Given the description of an element on the screen output the (x, y) to click on. 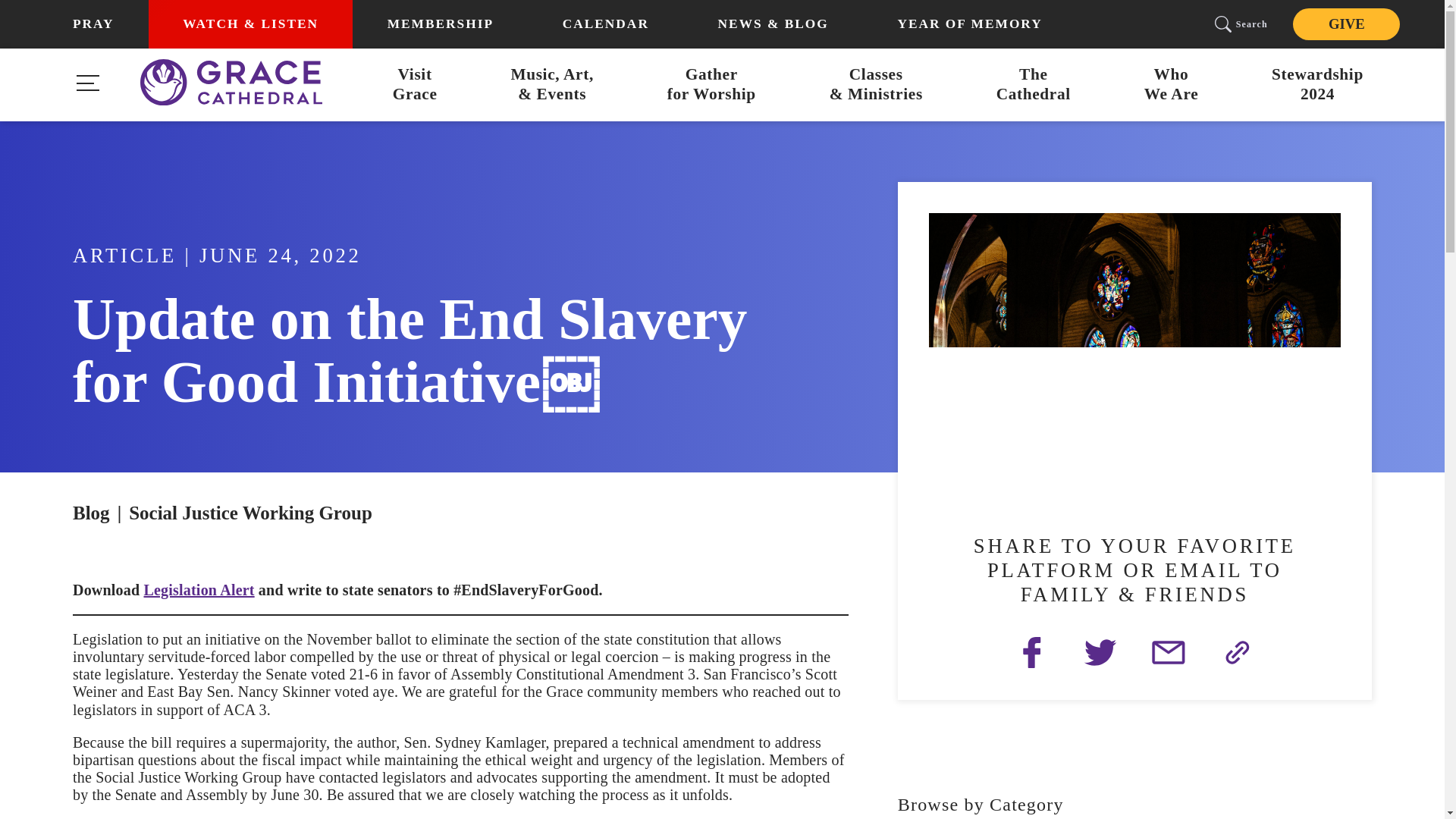
CALENDAR (604, 24)
MEMBERSHIP (439, 24)
GIVE (1170, 84)
PRAY (1345, 23)
YEAR OF MEMORY (1032, 84)
